Given the description of an element on the screen output the (x, y) to click on. 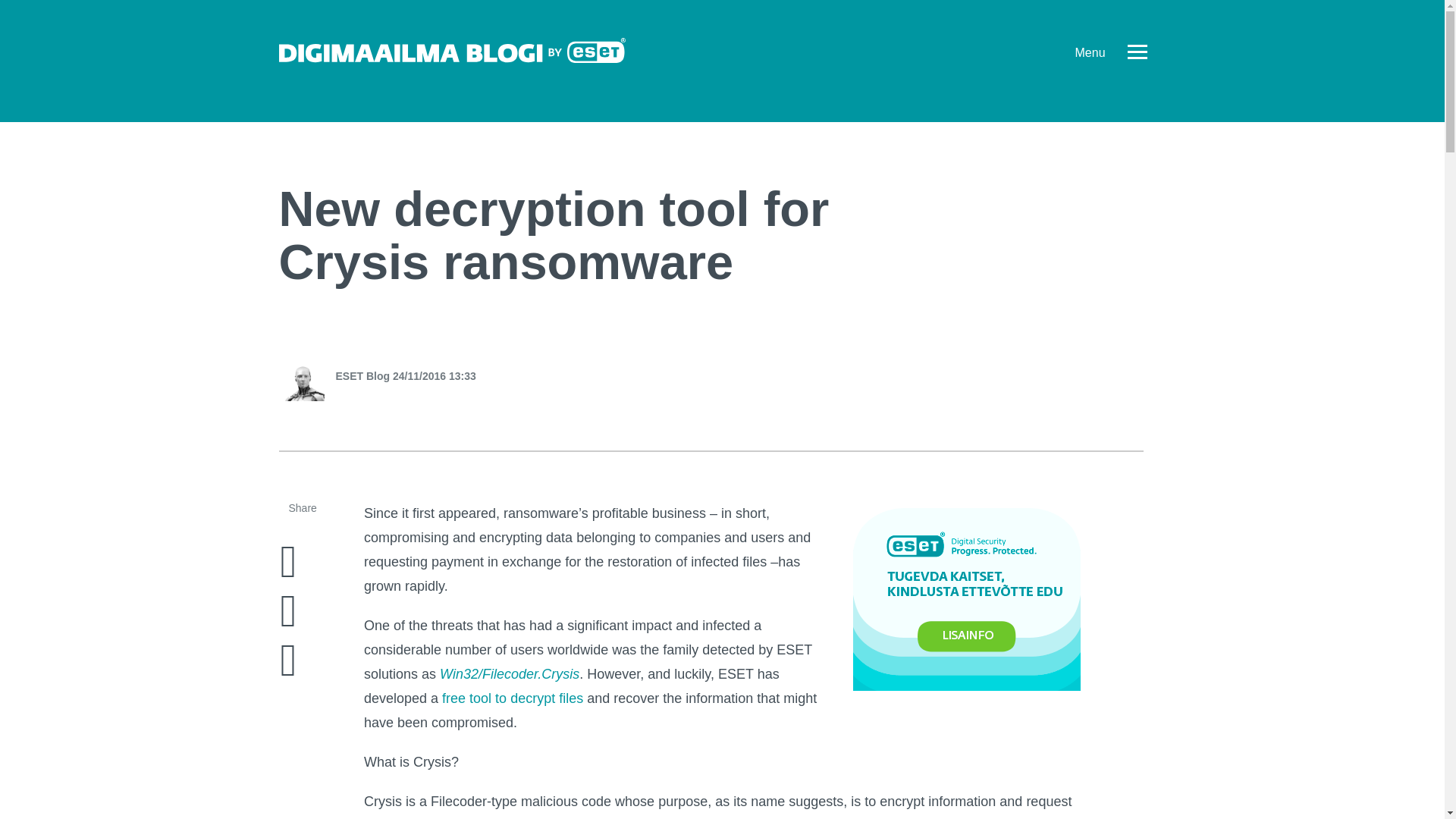
free tool to decrypt files (512, 698)
Posts by ESET Blog (362, 376)
ESET Blog (362, 376)
toggle menu (1136, 48)
